Given the description of an element on the screen output the (x, y) to click on. 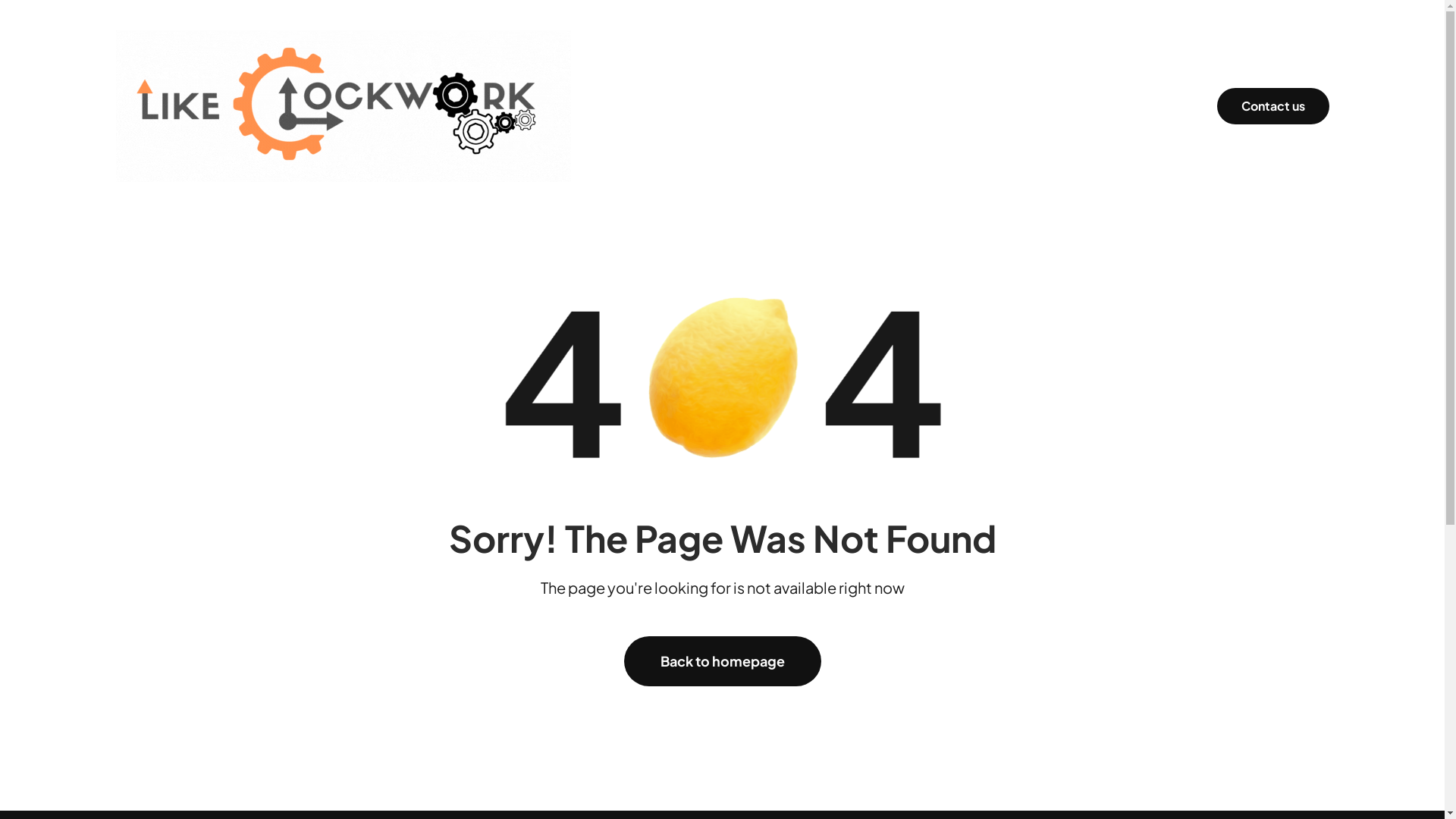
Back to homepage Element type: text (721, 661)
Contact us Element type: text (1272, 105)
